Given the description of an element on the screen output the (x, y) to click on. 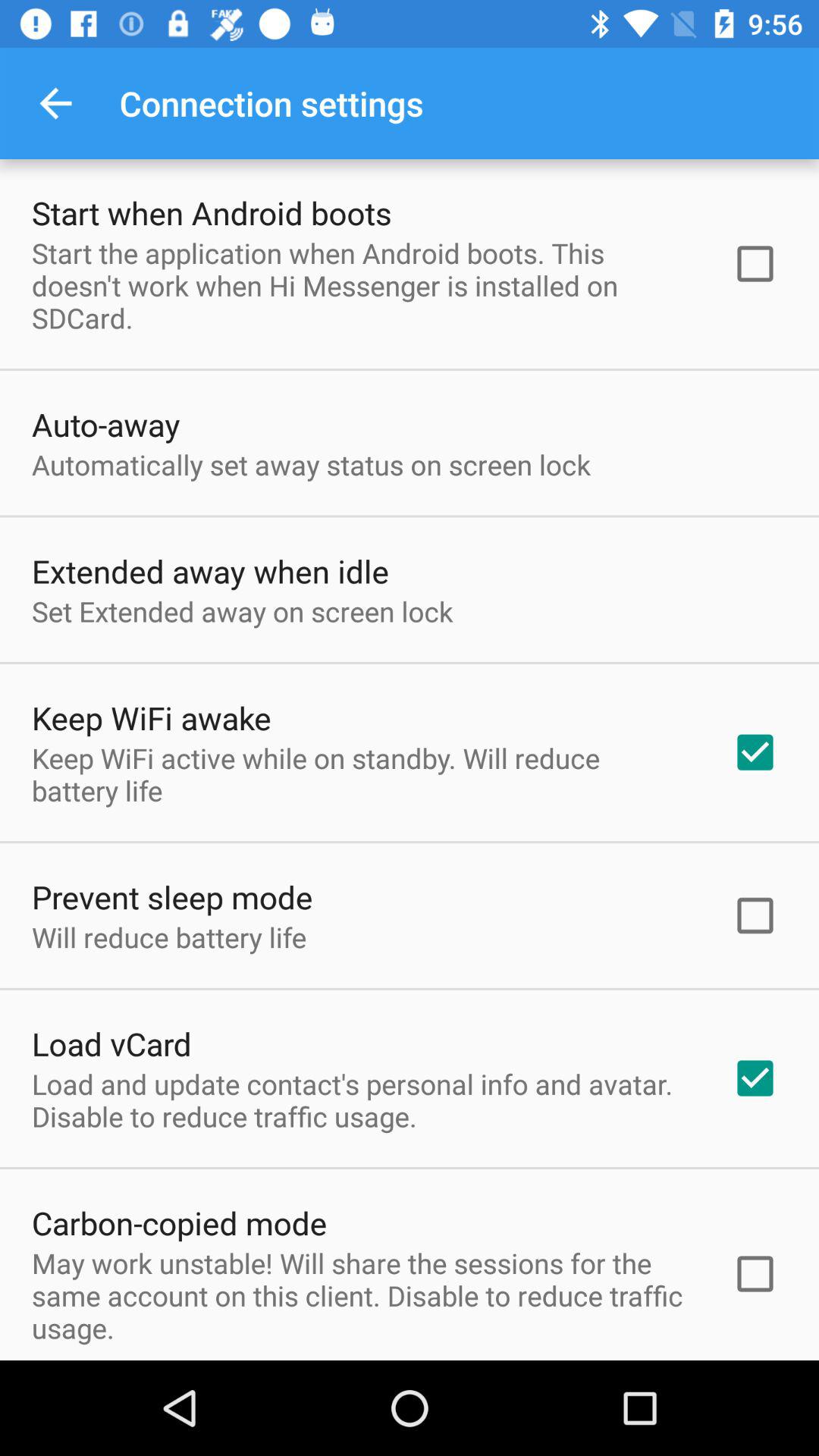
press auto-away (105, 423)
